Given the description of an element on the screen output the (x, y) to click on. 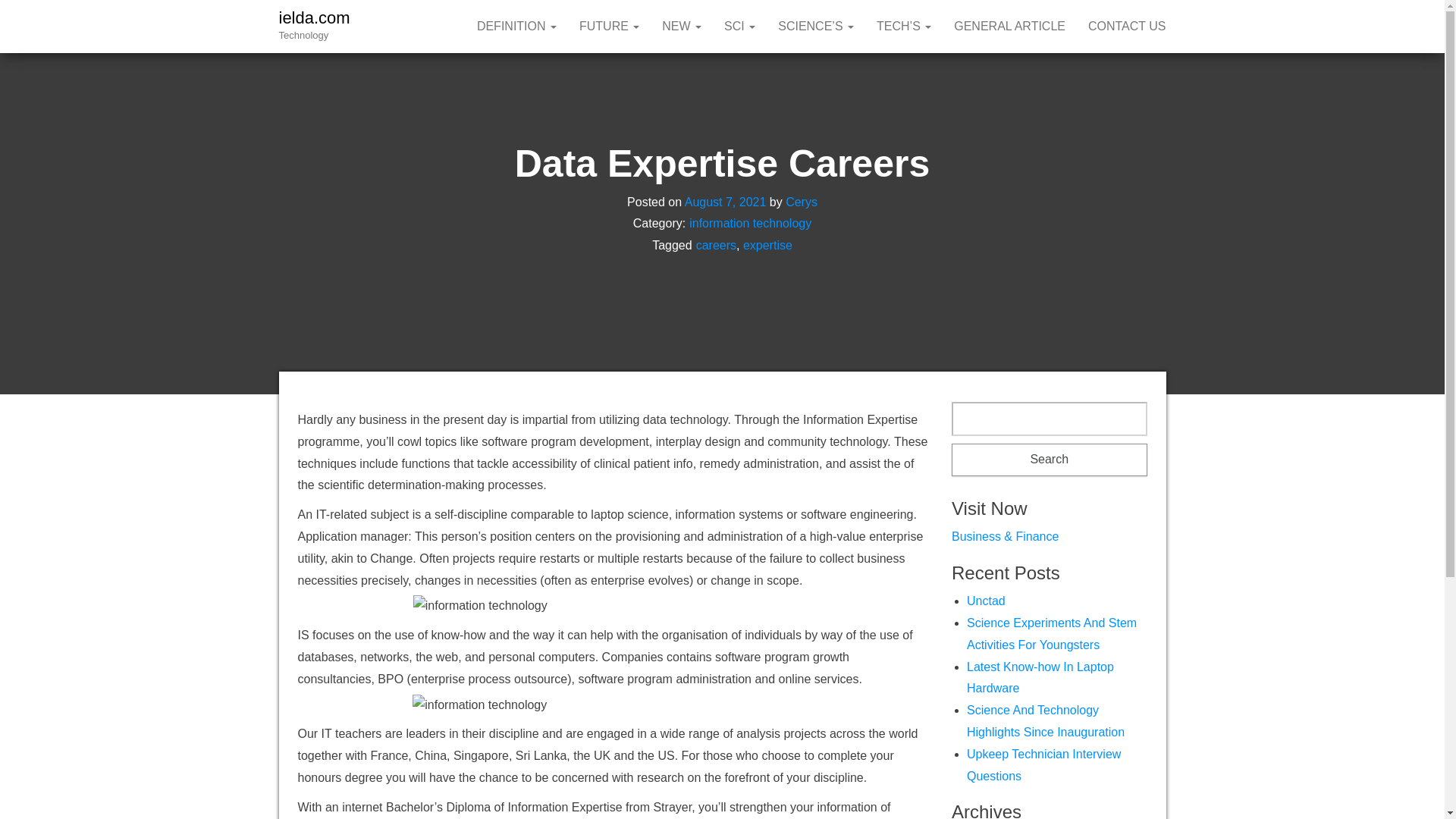
Science's (815, 26)
Cerys (801, 201)
Latest Know-how In Laptop Hardware (1039, 677)
GENERAL ARTICLE (1009, 26)
CONTACT US (1127, 26)
Search (1049, 459)
Definition (516, 26)
Unctad (986, 600)
SCI (740, 26)
ielda.com (314, 17)
